Given the description of an element on the screen output the (x, y) to click on. 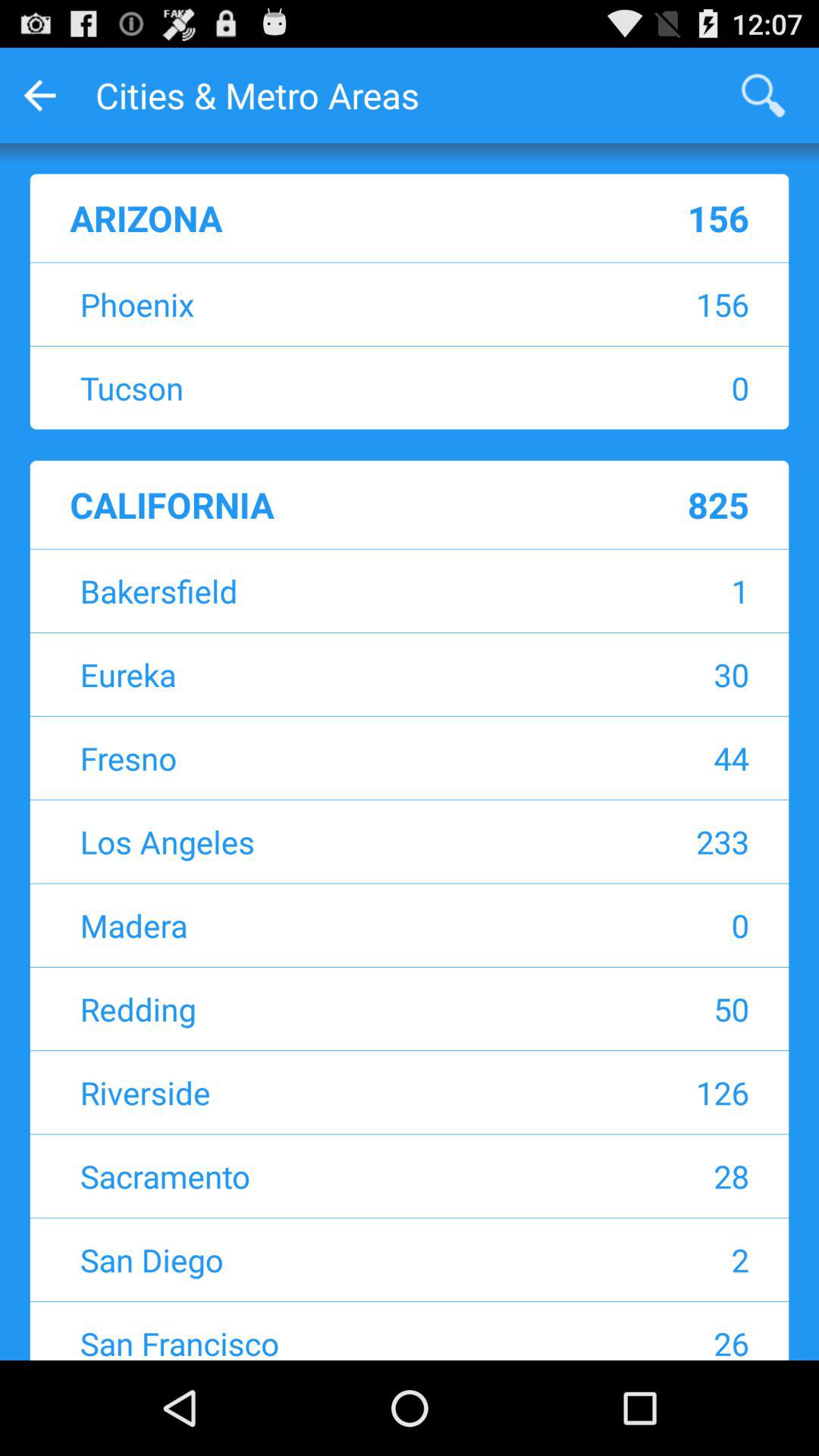
click the san diego icon (314, 1259)
